Given the description of an element on the screen output the (x, y) to click on. 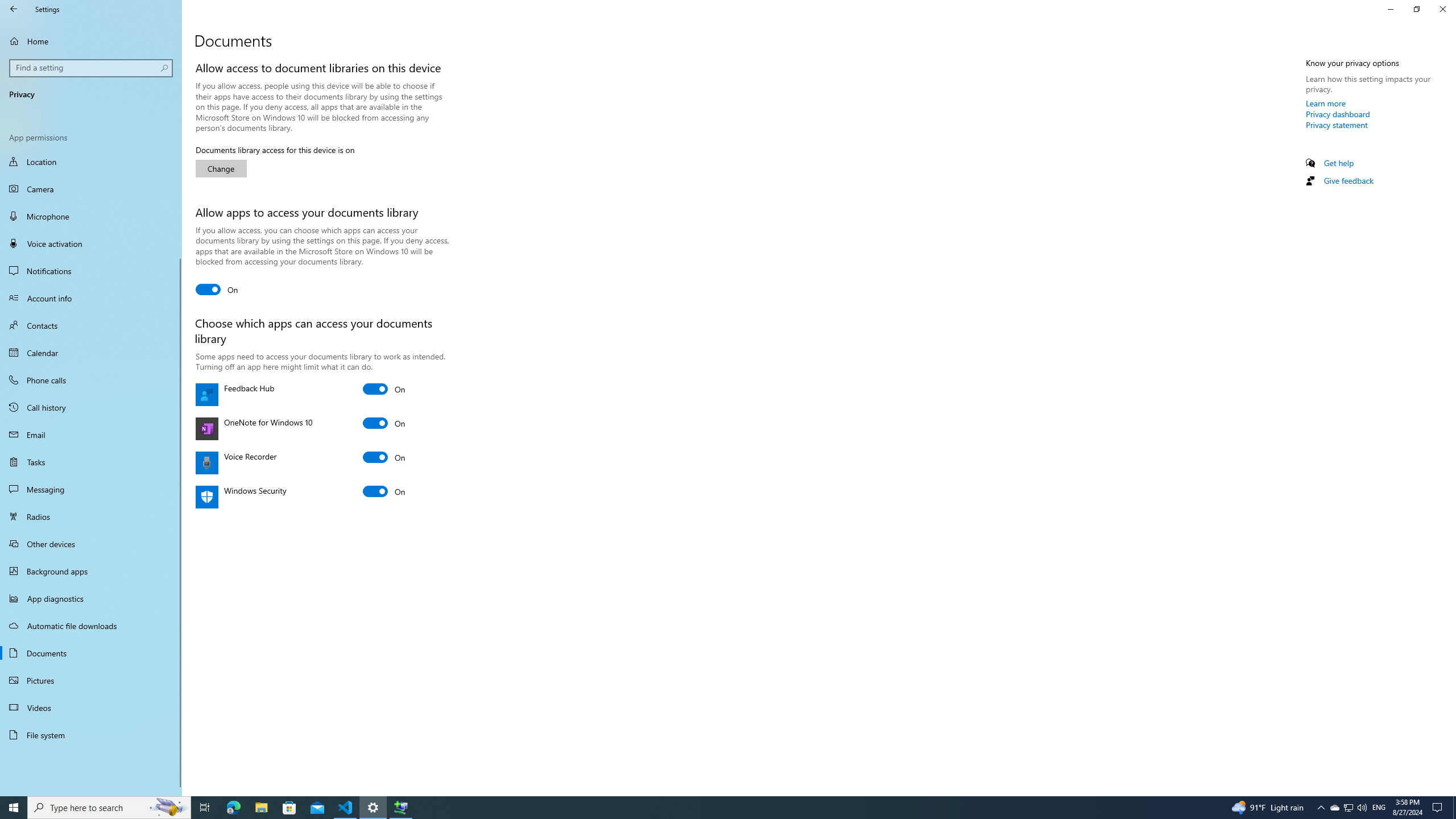
Close Settings (1442, 9)
Type here to search (108, 807)
Minimize Settings (1390, 9)
Email (91, 433)
Home (91, 40)
Task View (204, 807)
Background apps (1333, 807)
Extensible Wizards Host Process - 1 running window (91, 570)
Show desktop (400, 807)
Running applications (1454, 807)
Notification Chevron (706, 807)
Call history (1320, 807)
Change (91, 406)
Tasks (221, 168)
